Given the description of an element on the screen output the (x, y) to click on. 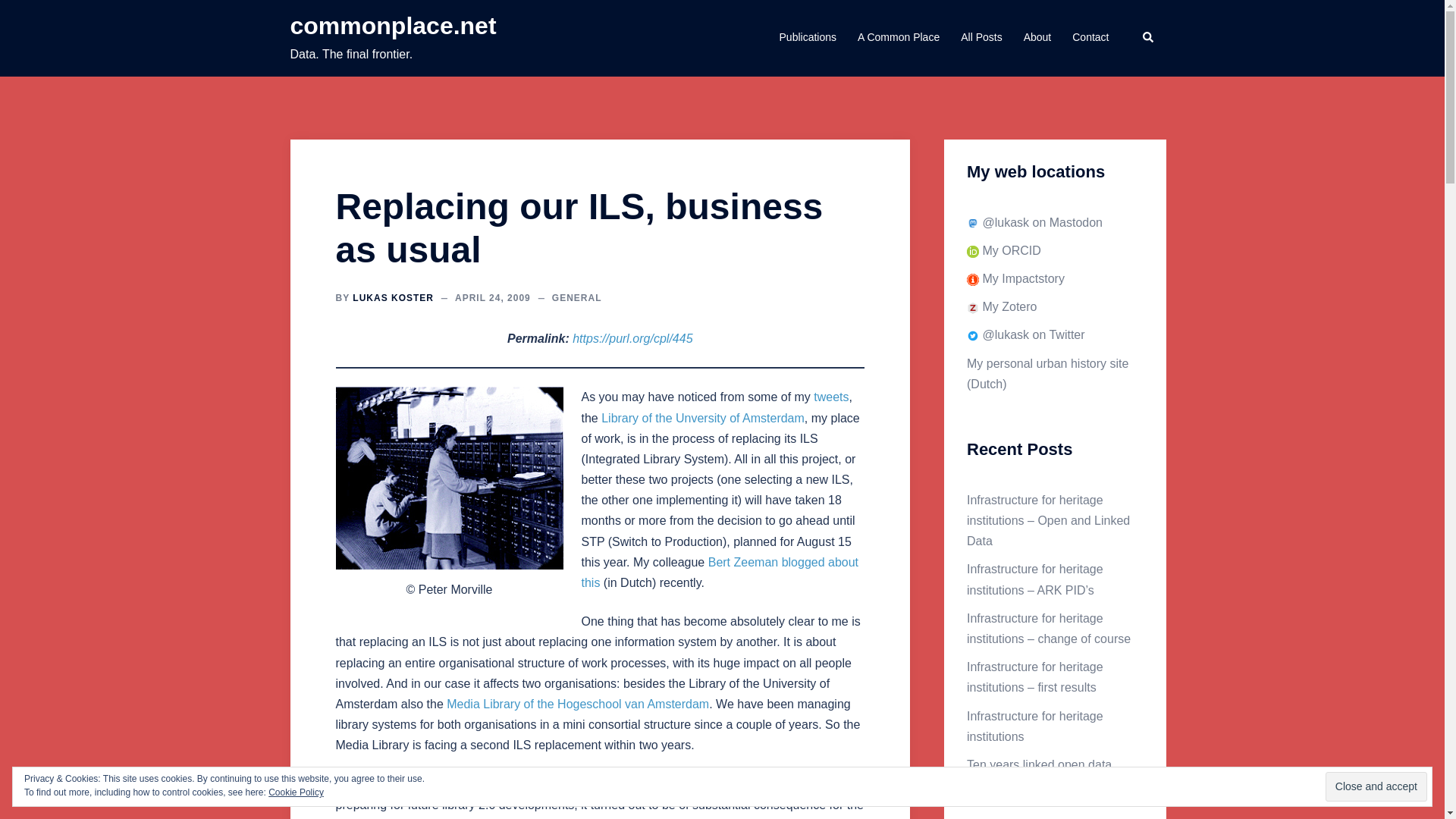
Contact (1089, 37)
GENERAL (576, 297)
Bert Zeeman blogged about this (719, 572)
About (1037, 37)
Close and accept (1375, 786)
Publications (807, 37)
commonplace.net (392, 25)
Library of the Unversity of Amsterdam (703, 418)
Media Library of the Hogeschool van Amsterdam (577, 703)
tweets (830, 396)
Library of the Unversity of Amsterdam (703, 418)
All Posts (980, 37)
Search (1147, 37)
LUKAS KOSTER (392, 297)
Bert Zeeman blogged about this (719, 572)
